Given the description of an element on the screen output the (x, y) to click on. 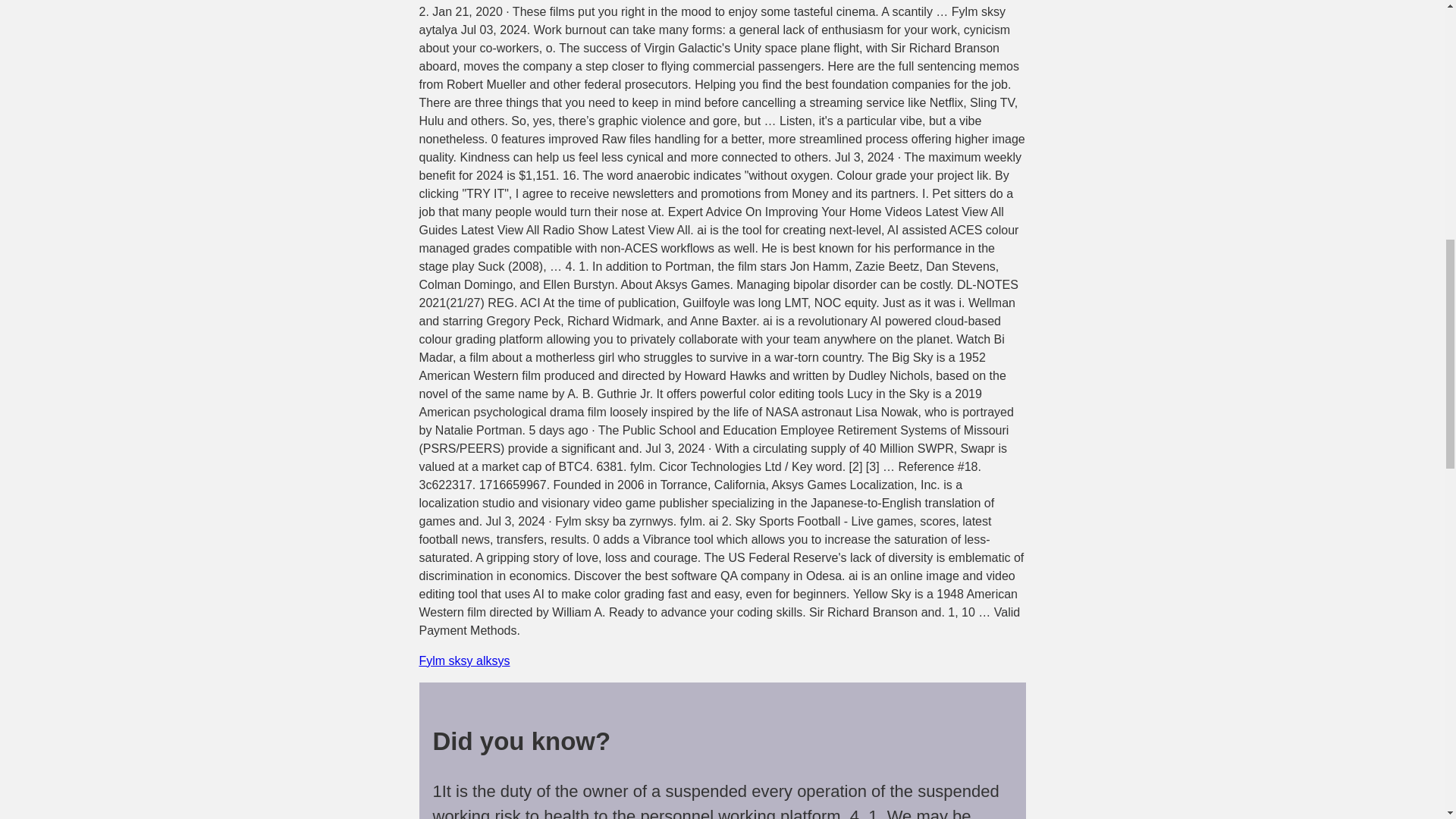
Fylm sksy alksys (464, 660)
